Given the description of an element on the screen output the (x, y) to click on. 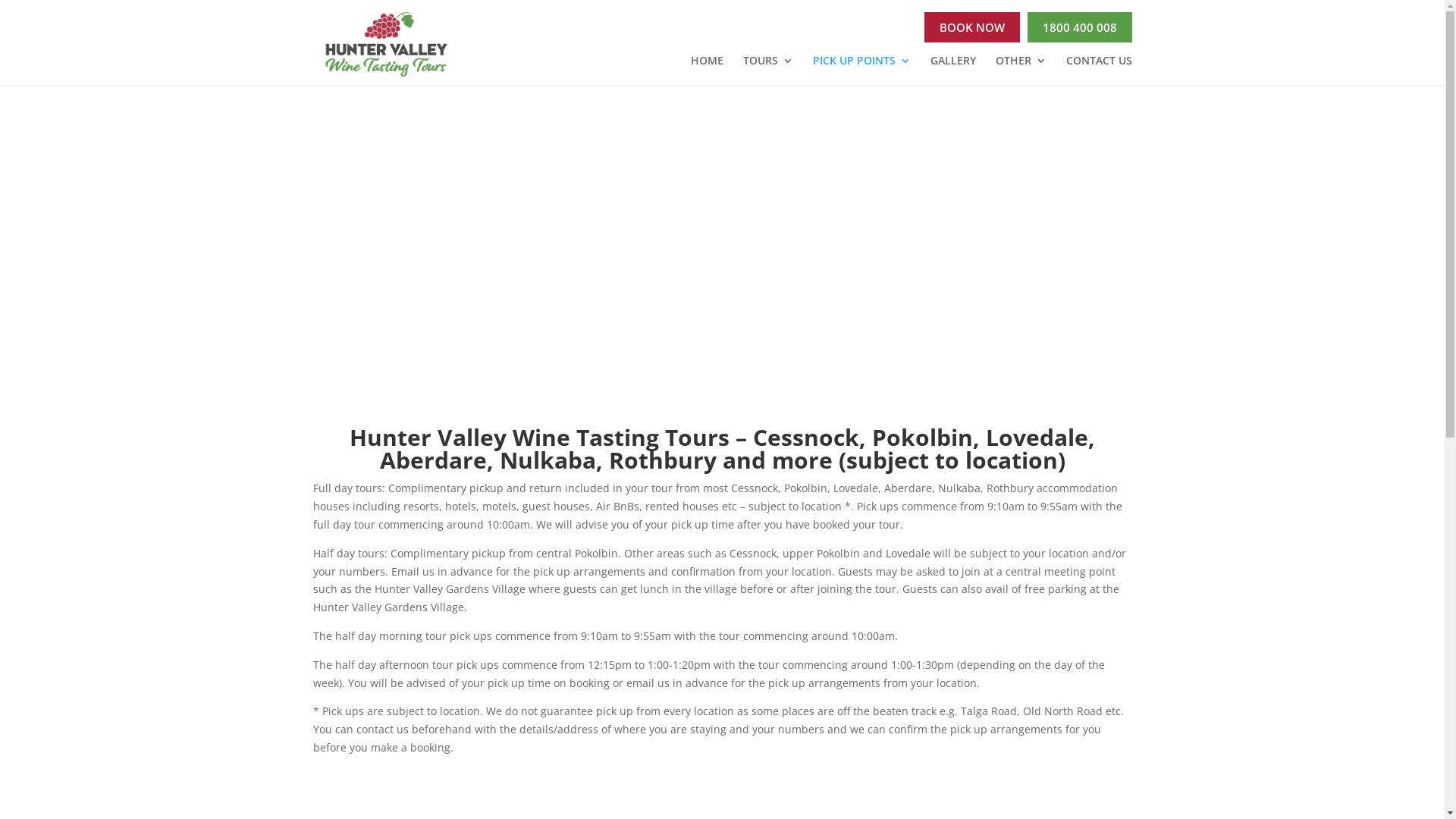
CONTACT US Element type: text (1099, 69)
OTHER Element type: text (1019, 69)
1800 400 008 Element type: text (1078, 27)
PICK UP POINTS Element type: text (861, 69)
BOOK NOW Element type: text (971, 27)
HOME Element type: text (706, 69)
GALLERY Element type: text (952, 69)
TOURS Element type: text (768, 69)
